Given the description of an element on the screen output the (x, y) to click on. 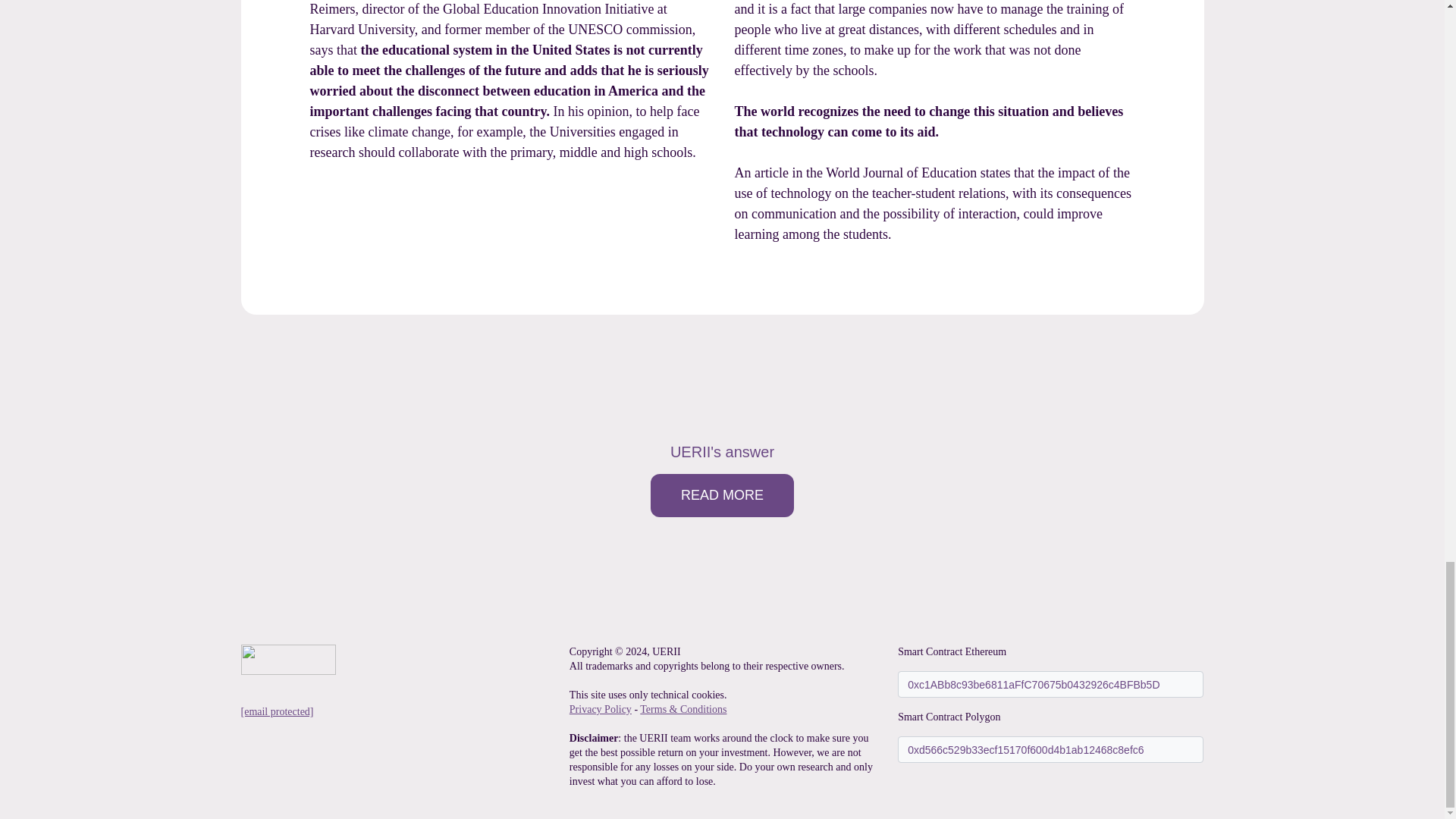
0xd566c529b33ecf15170f600d4b1ab12468c8efc6 (1051, 749)
0xc1ABb8c93be6811aFfC70675b0432926c4BFBb5D (1051, 683)
READ MORE (721, 495)
Privacy Policy (600, 708)
